Given the description of an element on the screen output the (x, y) to click on. 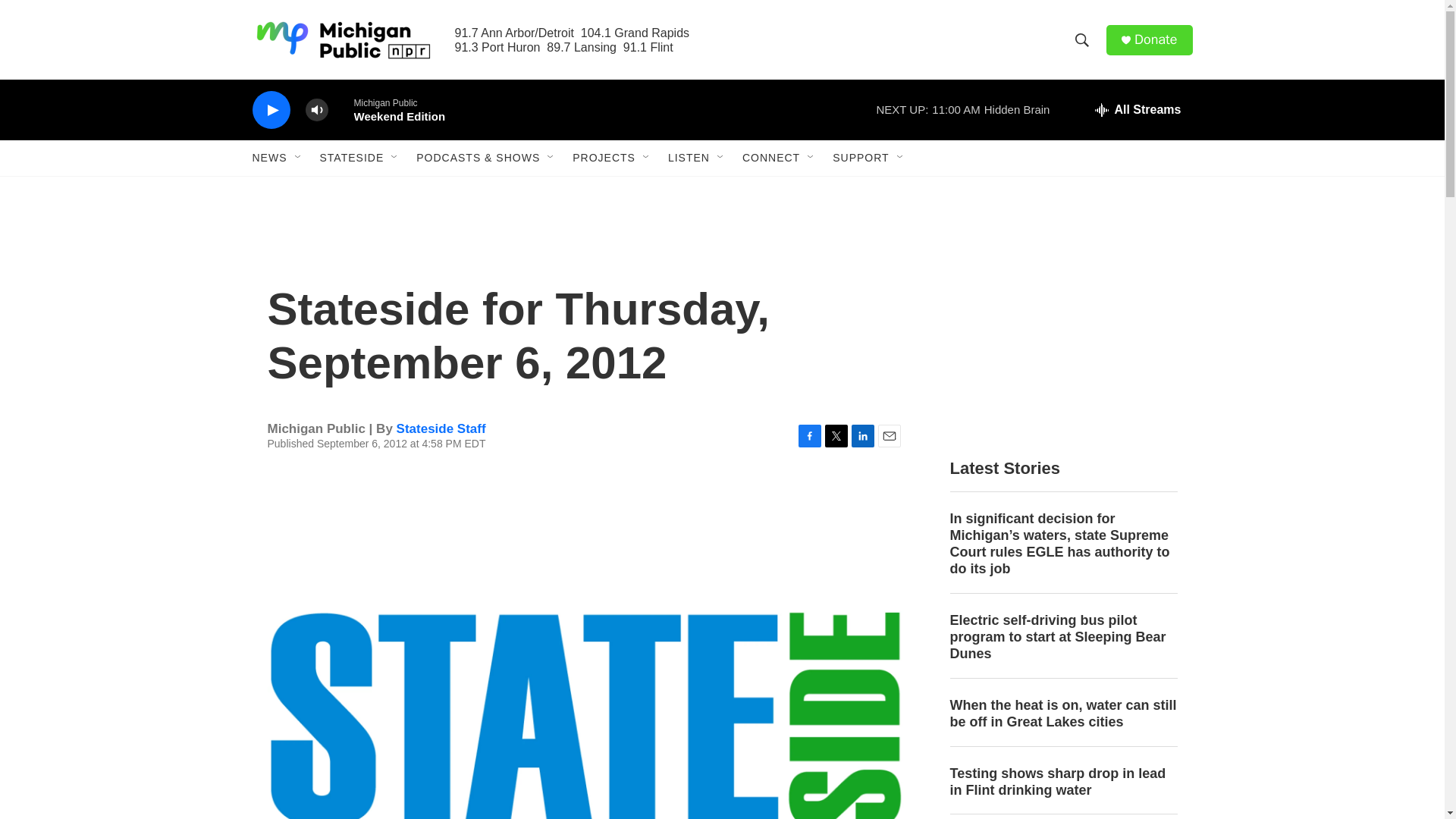
3rd party ad content (1062, 331)
